Given the description of an element on the screen output the (x, y) to click on. 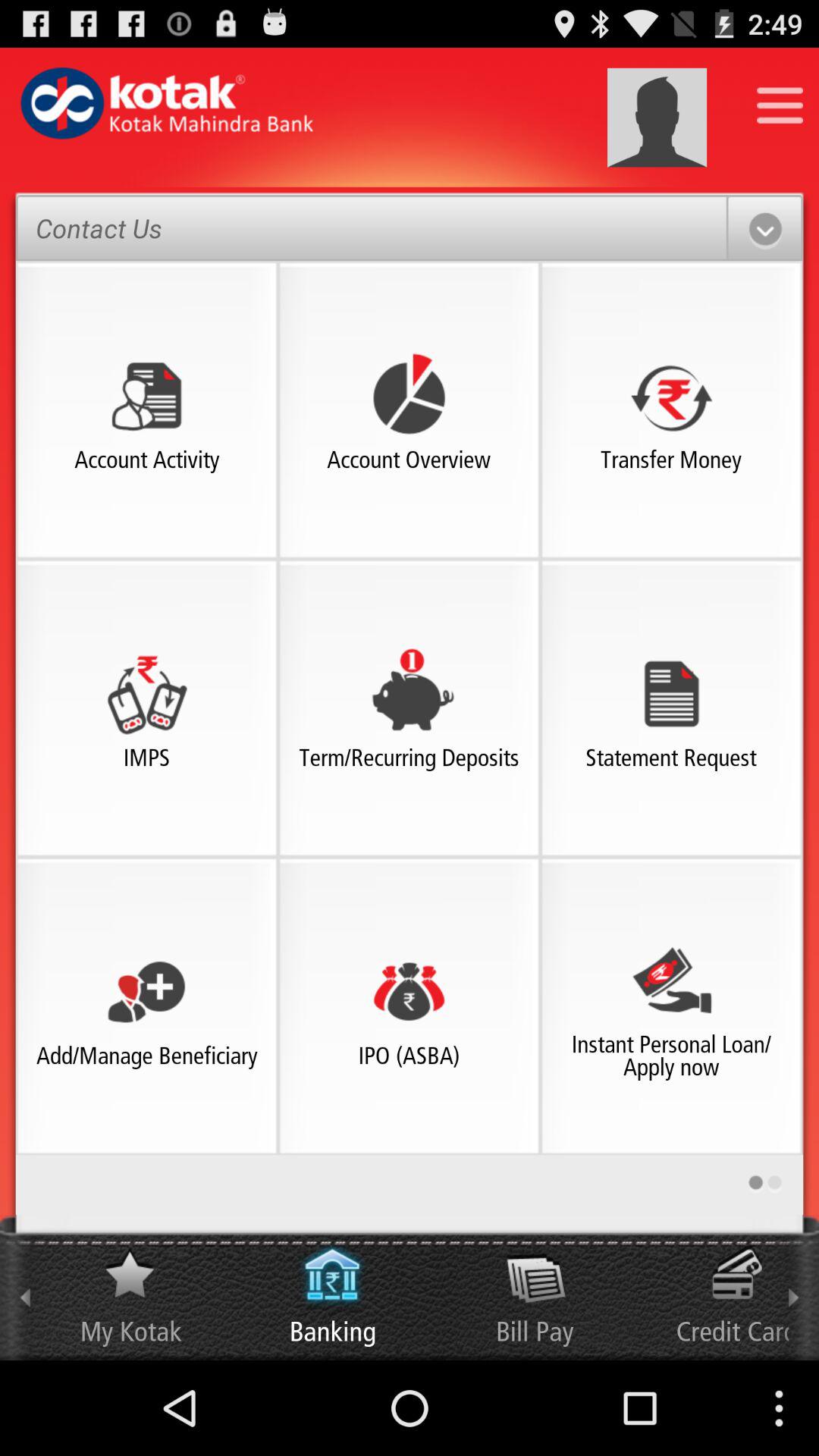
select the image above instant personal loanapply now text (671, 979)
click on the back arrow which is at the bottom left corner (24, 1287)
select the button under contact us (146, 395)
select imps on the left side of the page (147, 692)
select the image above addmanage beneficiary (147, 991)
